Given the description of an element on the screen output the (x, y) to click on. 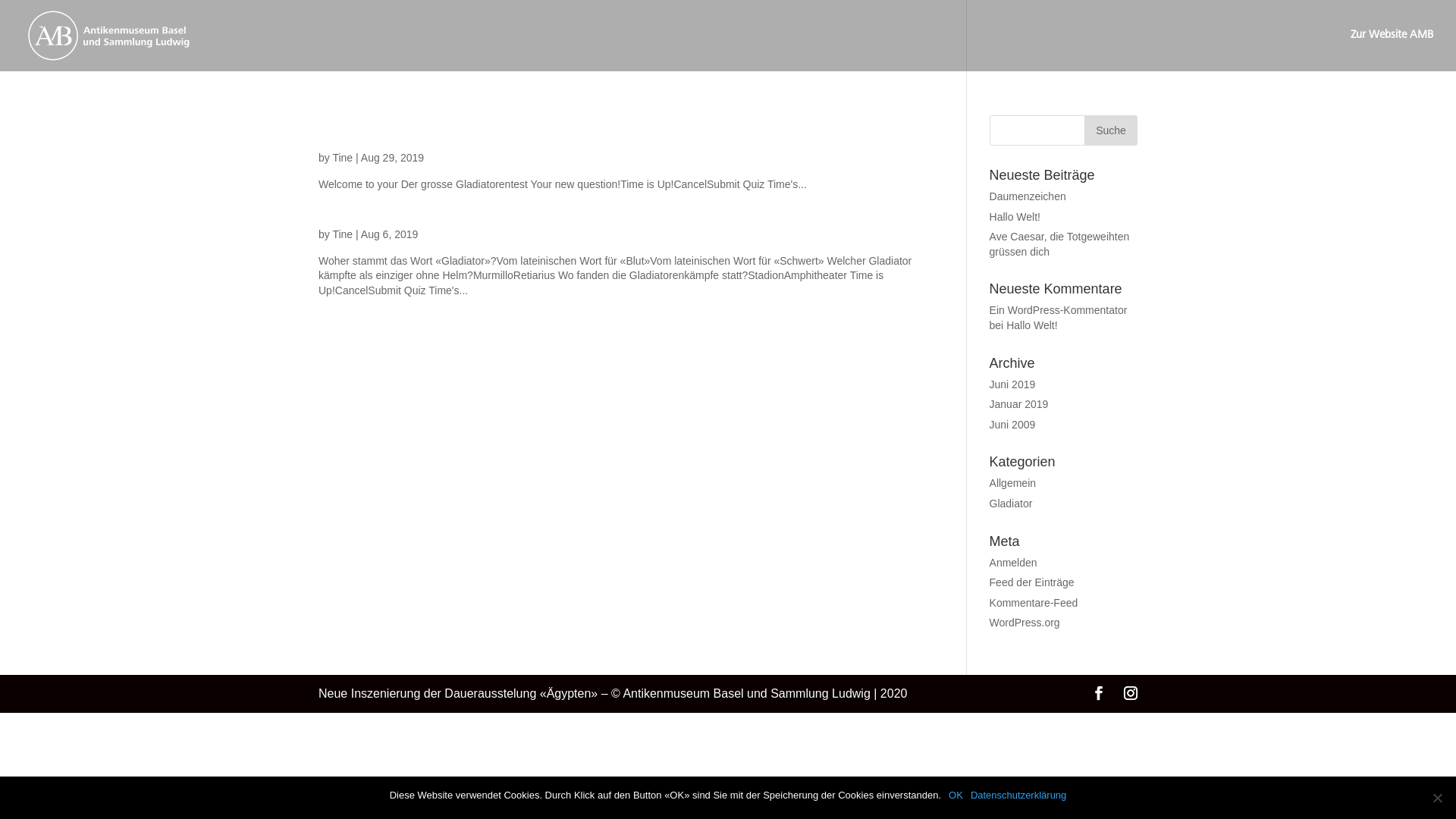
Suche Element type: text (1110, 130)
Daumenzeichen Element type: text (1027, 196)
Hallo Welt! Element type: text (1014, 216)
Gladiatorwissen Element type: text (401, 204)
Zur Website AMB Element type: text (1391, 50)
Tine Element type: text (342, 234)
OK Element type: text (955, 794)
Ein WordPress-Kommentator Element type: text (1058, 310)
Januar 2019 Element type: text (1018, 404)
WordPress.org Element type: text (1024, 622)
Juni 2009 Element type: text (1012, 424)
Tine Element type: text (342, 157)
Kommentare-Feed Element type: text (1033, 602)
Juni 2019 Element type: text (1012, 384)
Anmelden Element type: text (1013, 562)
Hallo Welt! Element type: text (1031, 325)
Allgemein Element type: text (1012, 482)
Gladiator Element type: text (1010, 503)
Der grosse Gladiatorentest Element type: text (457, 128)
